Given the description of an element on the screen output the (x, y) to click on. 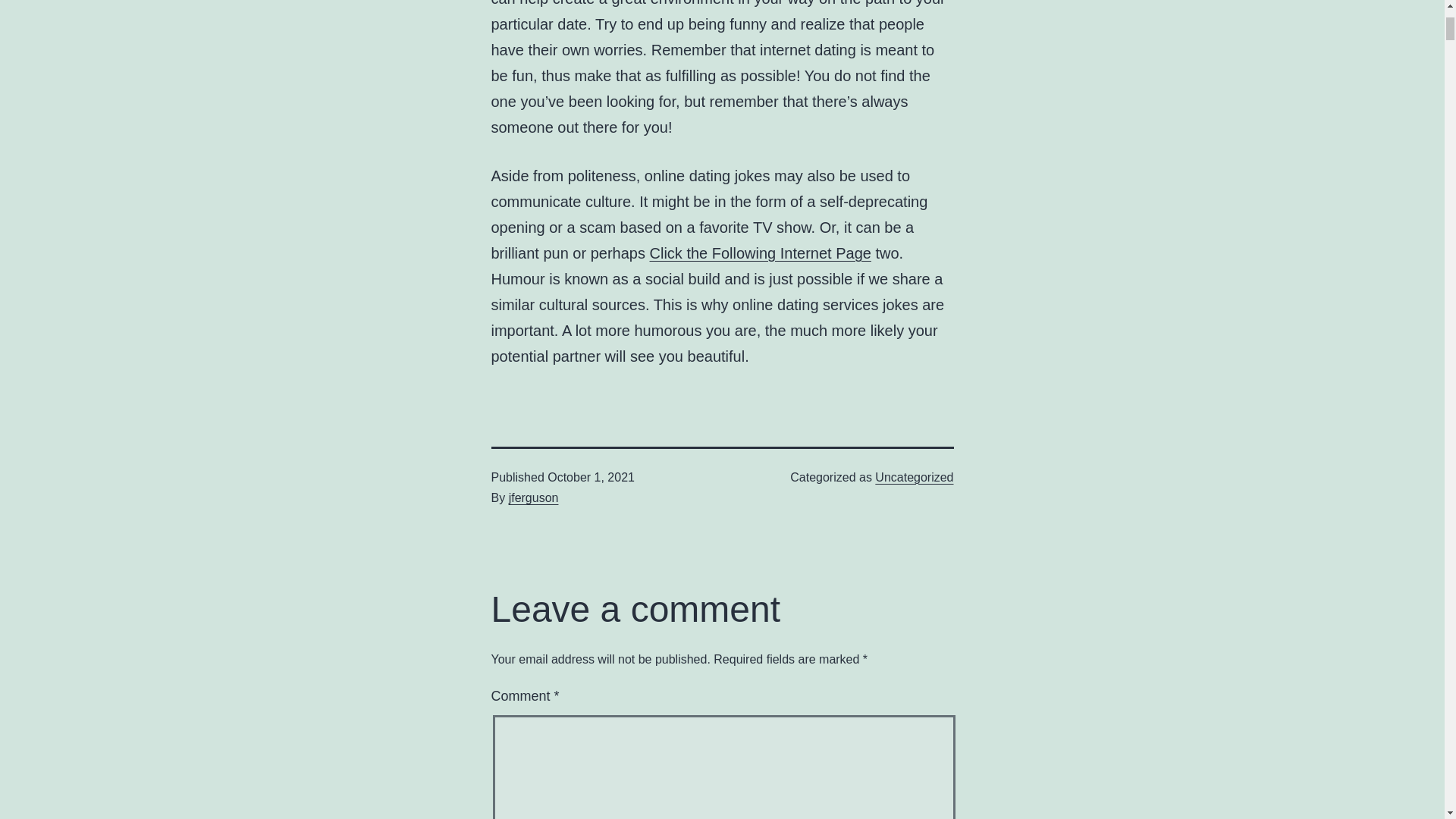
jferguson (533, 497)
Uncategorized (914, 477)
Click the Following Internet Page (759, 252)
